Given the description of an element on the screen output the (x, y) to click on. 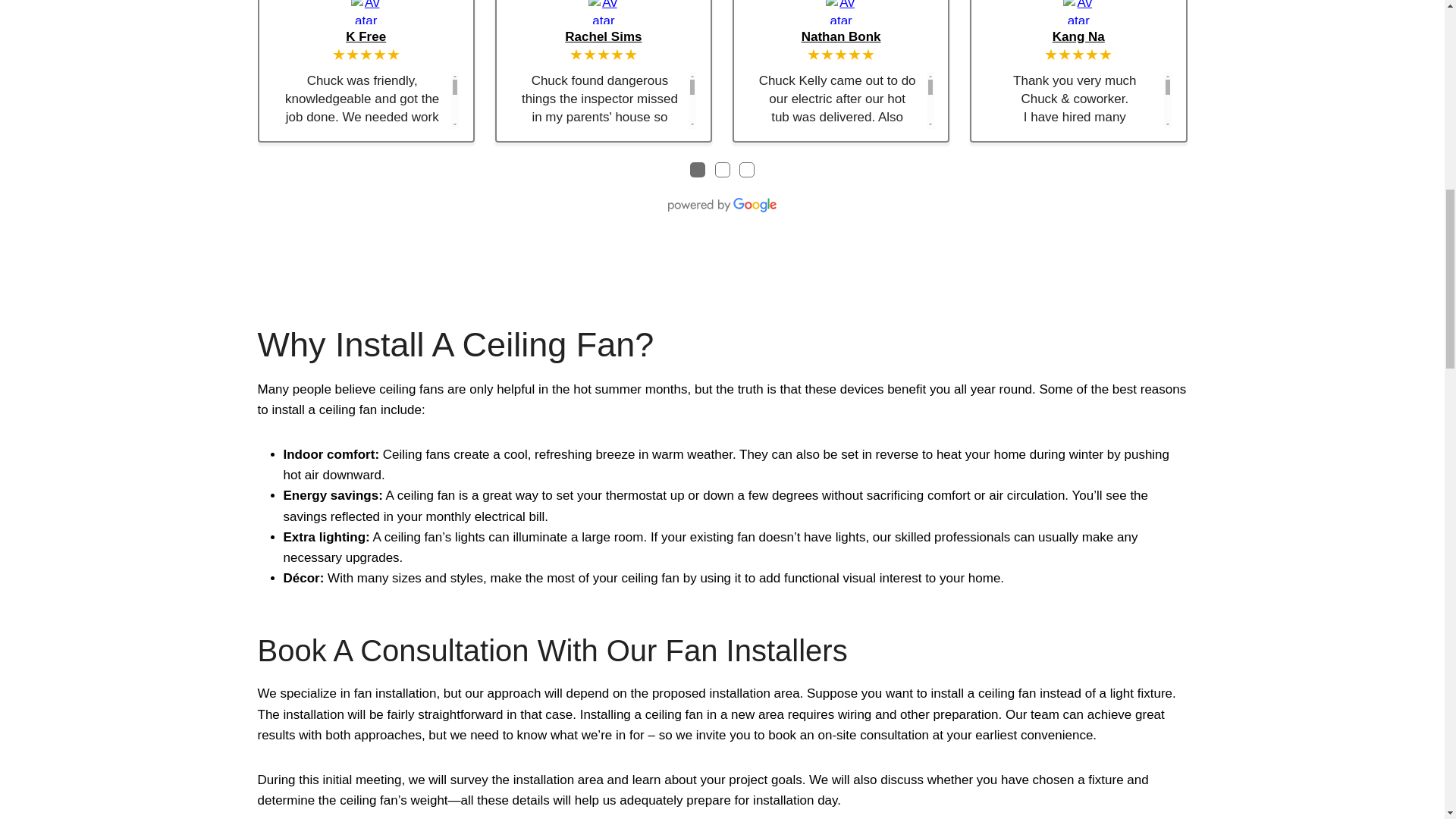
Kang Na (1078, 36)
Rachel Sims (604, 36)
Nathan Bonk (841, 36)
K Free (365, 36)
Powered by Google (722, 205)
